Given the description of an element on the screen output the (x, y) to click on. 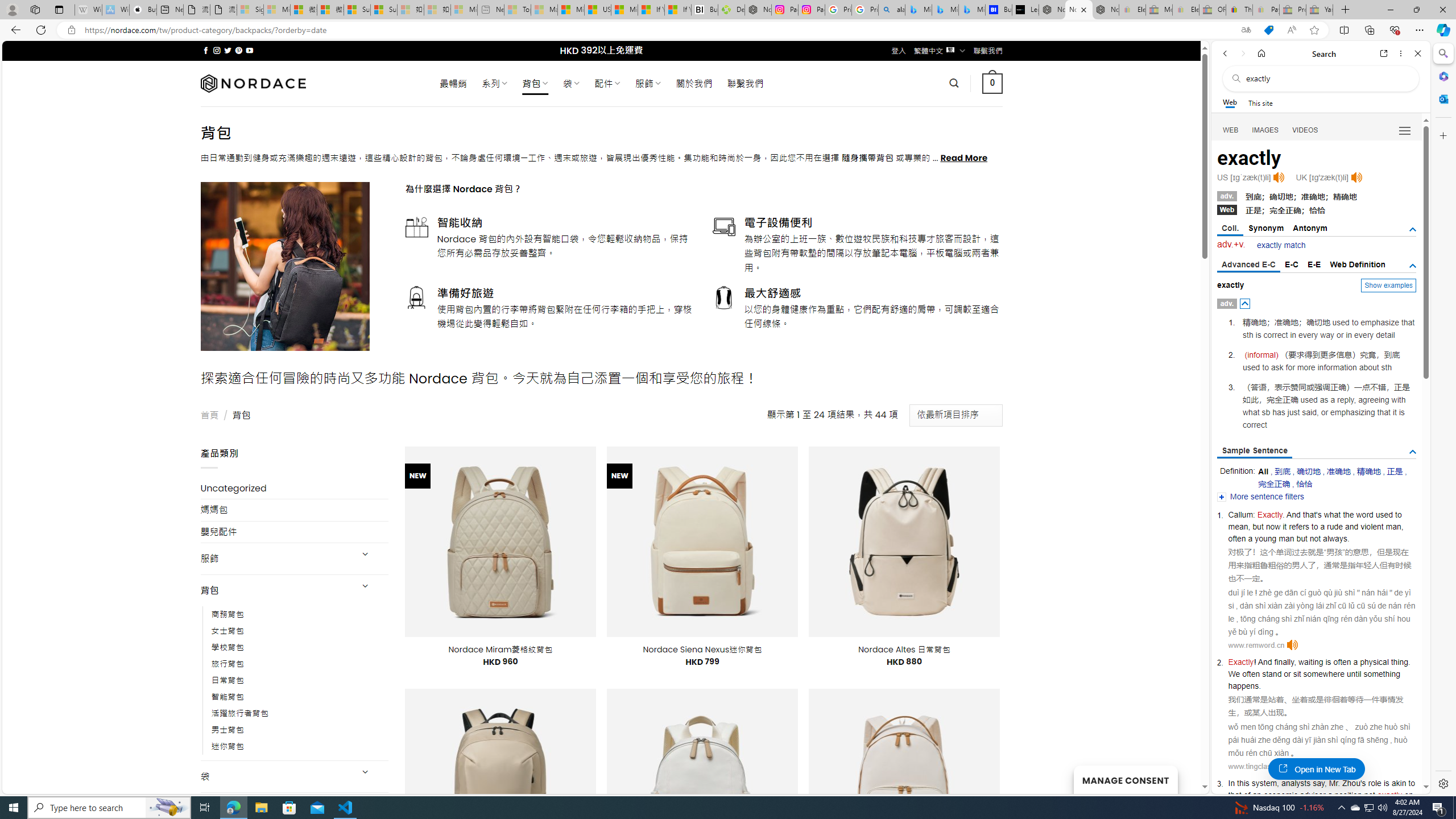
E-C (1291, 264)
Top Stories - MSN - Sleeping (517, 9)
used (1384, 514)
Synonym (1265, 227)
Advanced E-C (1248, 264)
akin (1398, 782)
